Given the description of an element on the screen output the (x, y) to click on. 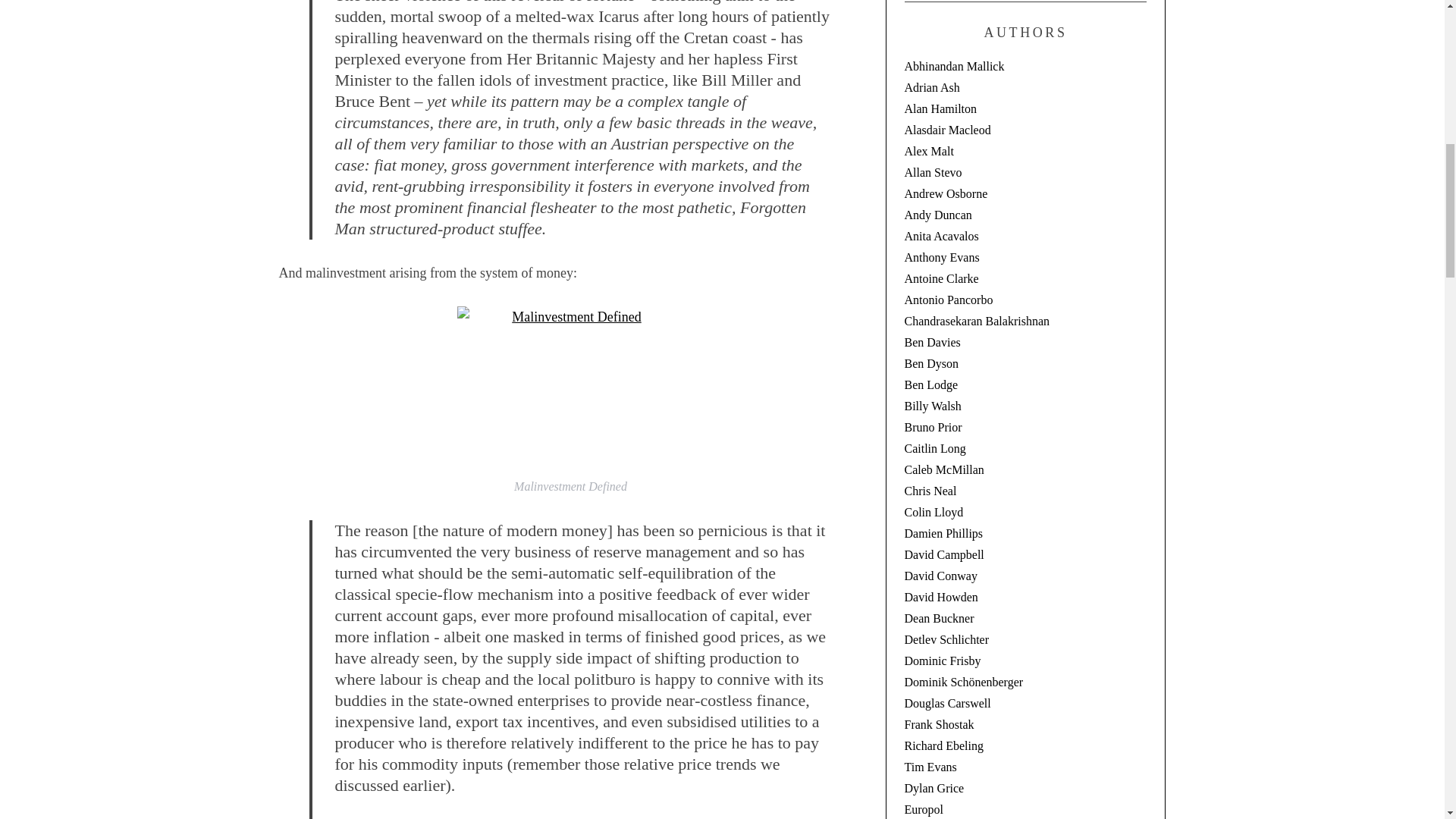
Posts by Adrian Ash (931, 87)
Malinvestment (570, 387)
Posts by Alan Hamilton (940, 108)
Posts by Abhinandan Mallick (954, 65)
